Given the description of an element on the screen output the (x, y) to click on. 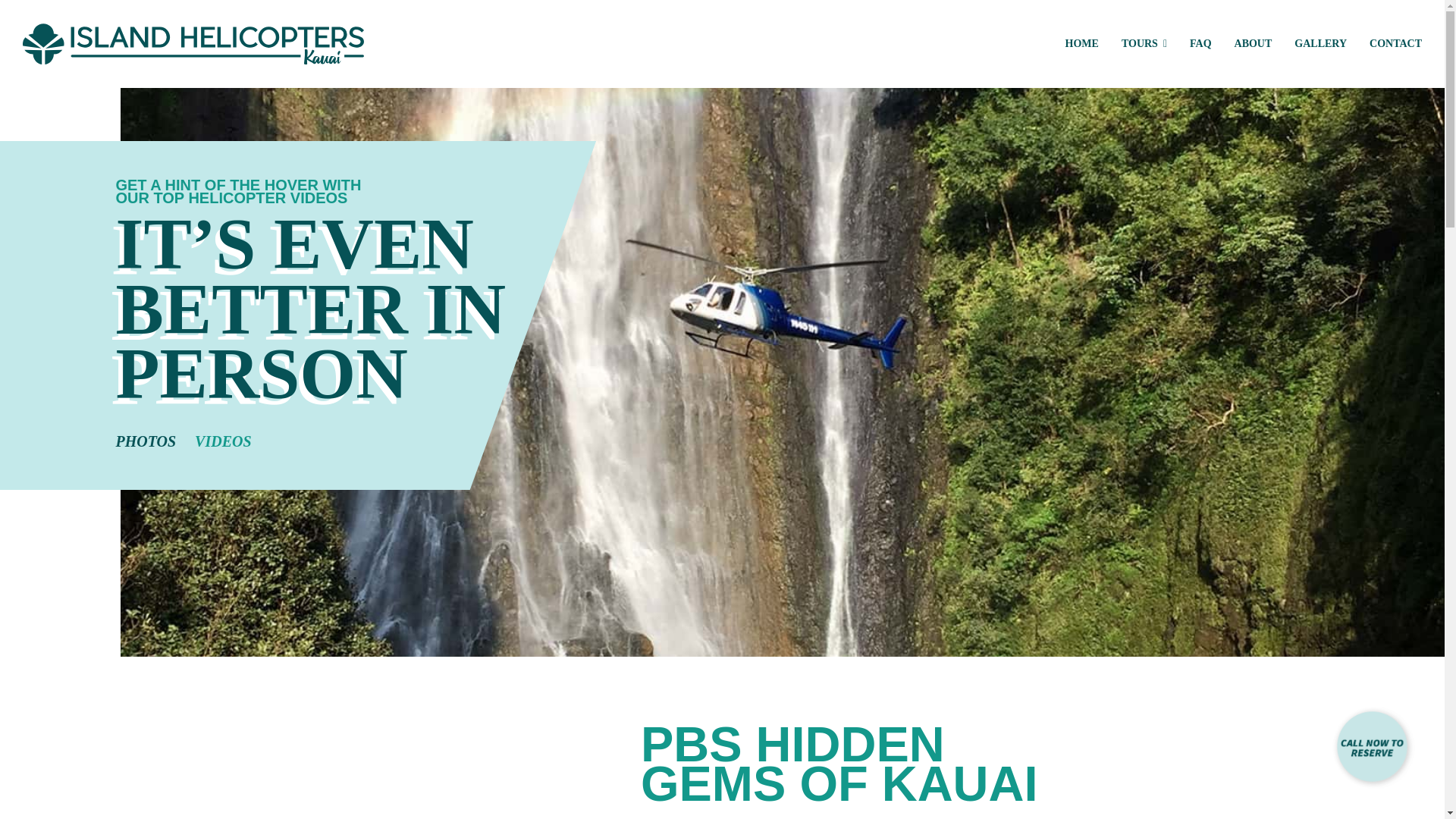
PHOTOS (145, 440)
ABOUT (1241, 43)
HOME (1070, 43)
GALLERY (1308, 43)
CONTACT (1384, 43)
Vimeo video player 1 (418, 771)
FAQ (1189, 43)
TOURS (1133, 43)
VIDEOS (222, 440)
